Given the description of an element on the screen output the (x, y) to click on. 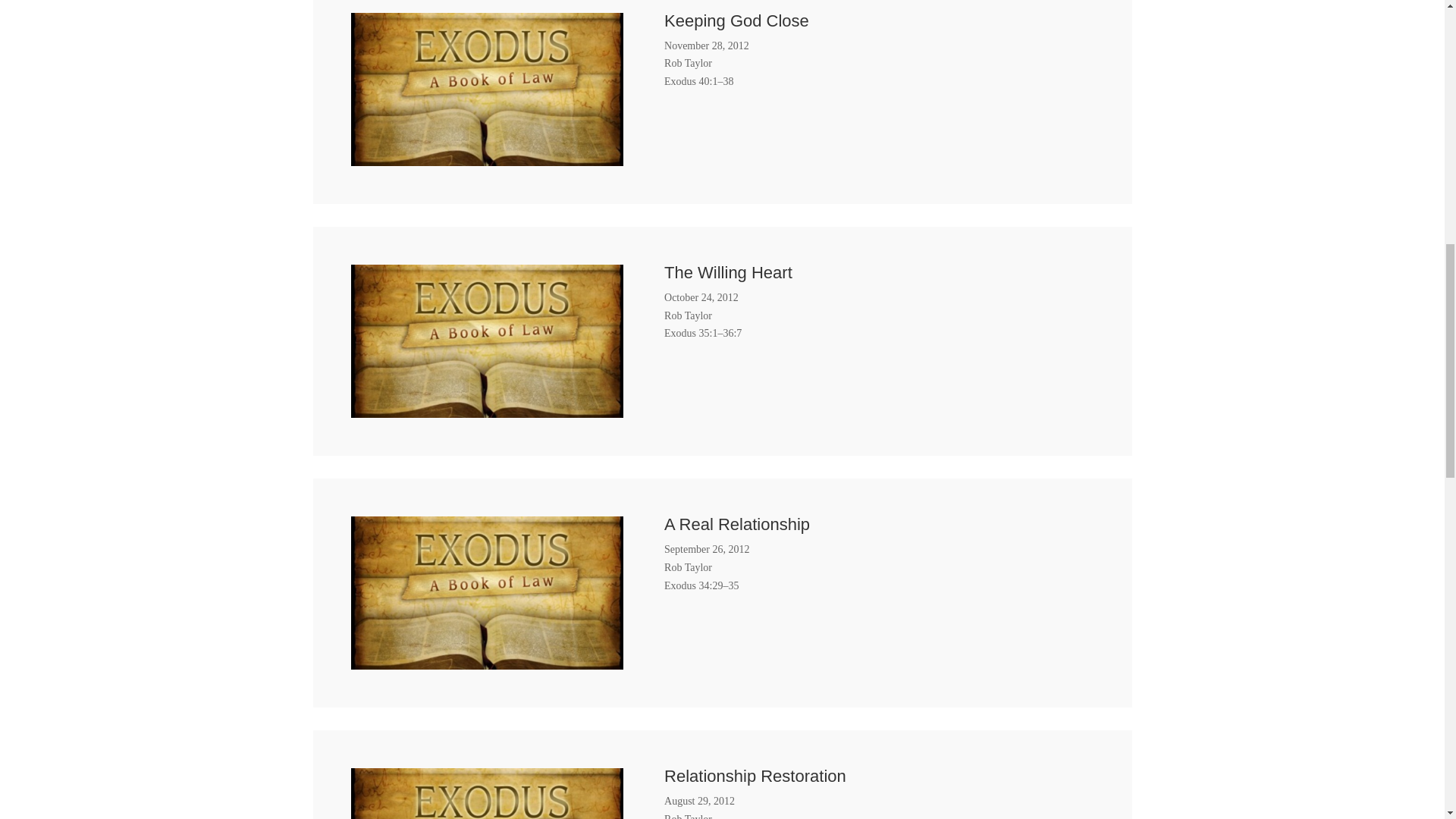
Permanent Link to Relationship Restoration (754, 775)
Permanent Link to Keeping God Close (736, 20)
Permanent Link to Keeping God Close (486, 156)
The Willing Heart (727, 271)
Keeping God Close (736, 20)
Permanent Link to A Real Relationship (486, 660)
Permanent Link to A Real Relationship (736, 524)
Relationship Restoration (754, 775)
Permanent Link to The Willing Heart (486, 408)
A Real Relationship (736, 524)
